Given the description of an element on the screen output the (x, y) to click on. 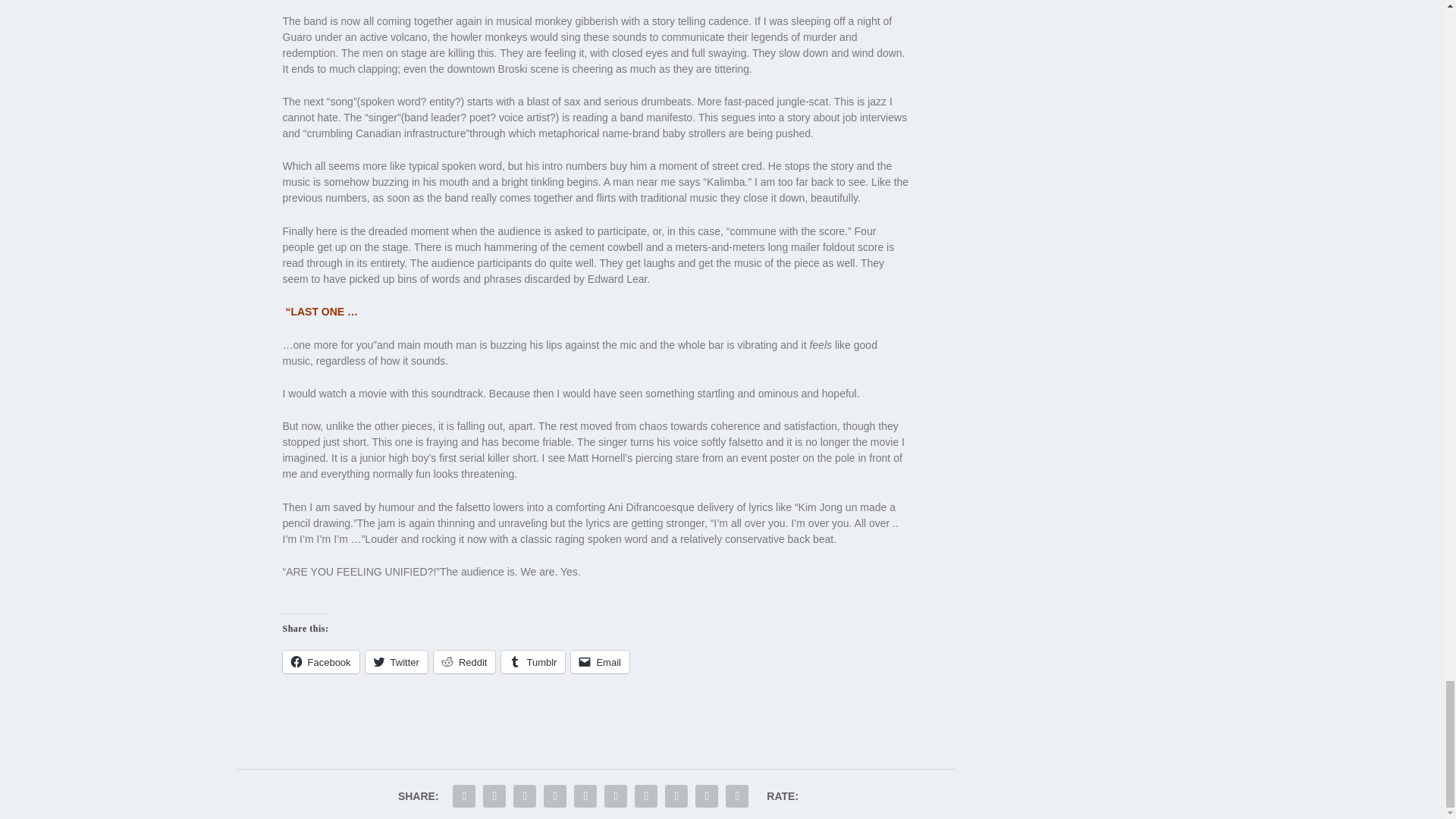
Reddit (464, 661)
Click to share on Twitter (396, 661)
Tumblr (532, 661)
Click to email a link to a friend (599, 661)
Click to share on Tumblr (532, 661)
Twitter (396, 661)
Click to share on Facebook (320, 661)
Email (599, 661)
Facebook (320, 661)
Click to share on Reddit (464, 661)
